Given the description of an element on the screen output the (x, y) to click on. 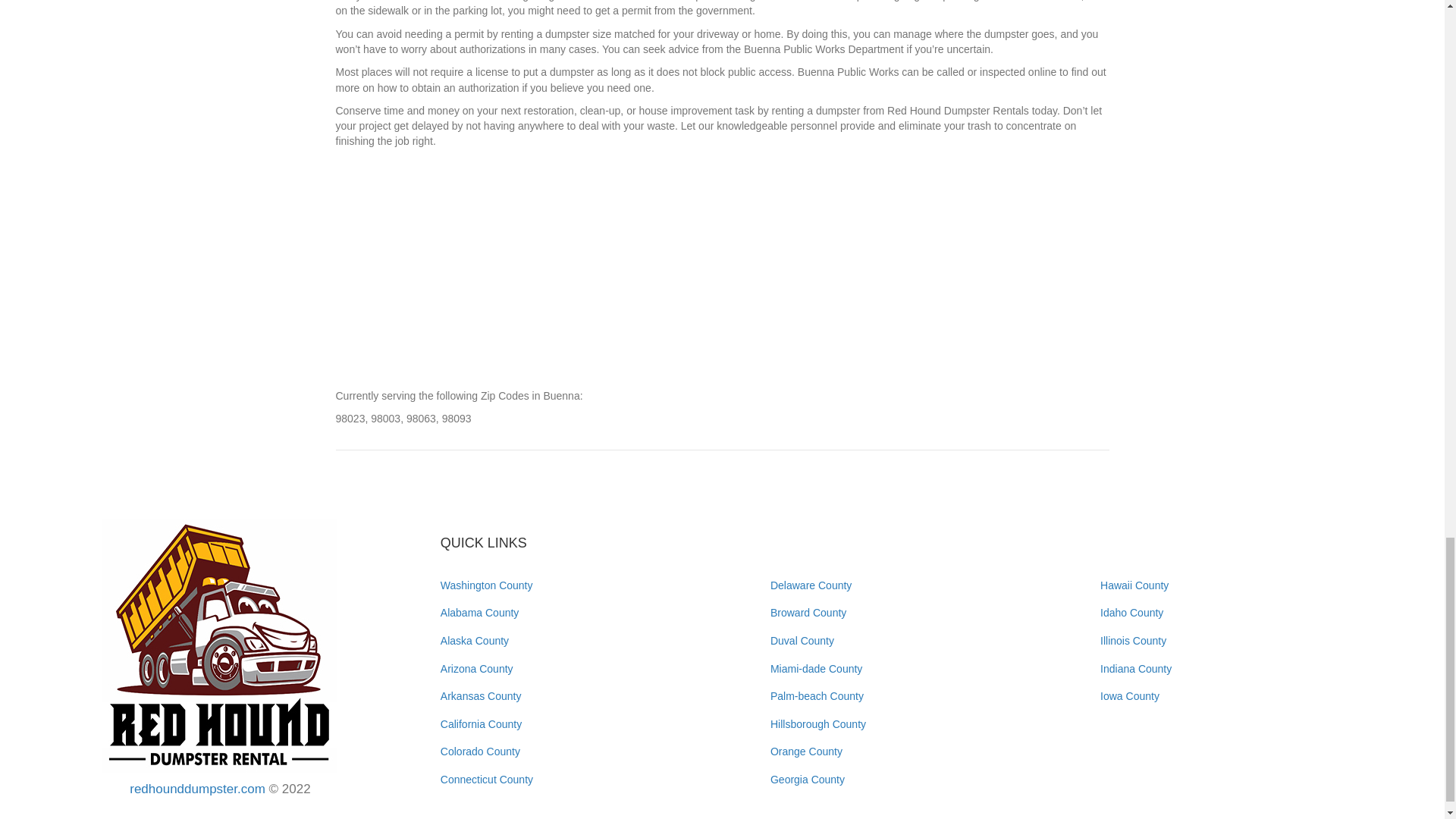
Washington County (486, 585)
redhounddumpster (219, 646)
Alabama County (480, 612)
redhounddumpster.com (196, 789)
